Given the description of an element on the screen output the (x, y) to click on. 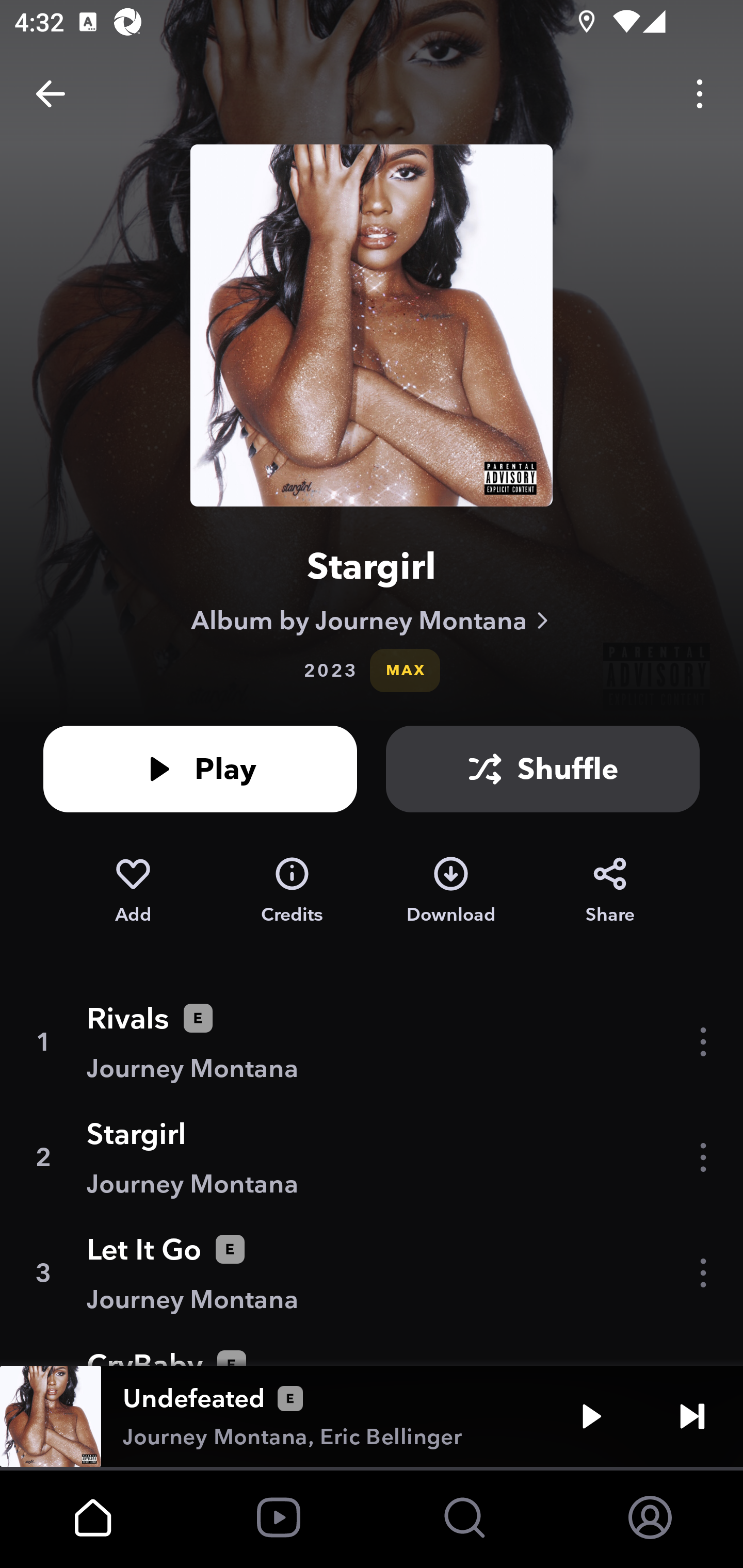
Options (699, 93)
Stargirl (371, 565)
Album by Journey Montana (371, 619)
Play (200, 768)
Shuffle (542, 768)
Add to My Collection Add (132, 890)
Credits (291, 890)
Download (450, 890)
Share (609, 890)
1 Rivals Journey Montana (371, 1041)
2 Stargirl Journey Montana (371, 1157)
3 Let It Go Journey Montana (371, 1273)
Undefeated    Journey Montana, Eric Bellinger Play (371, 1416)
Play (590, 1416)
